Given the description of an element on the screen output the (x, y) to click on. 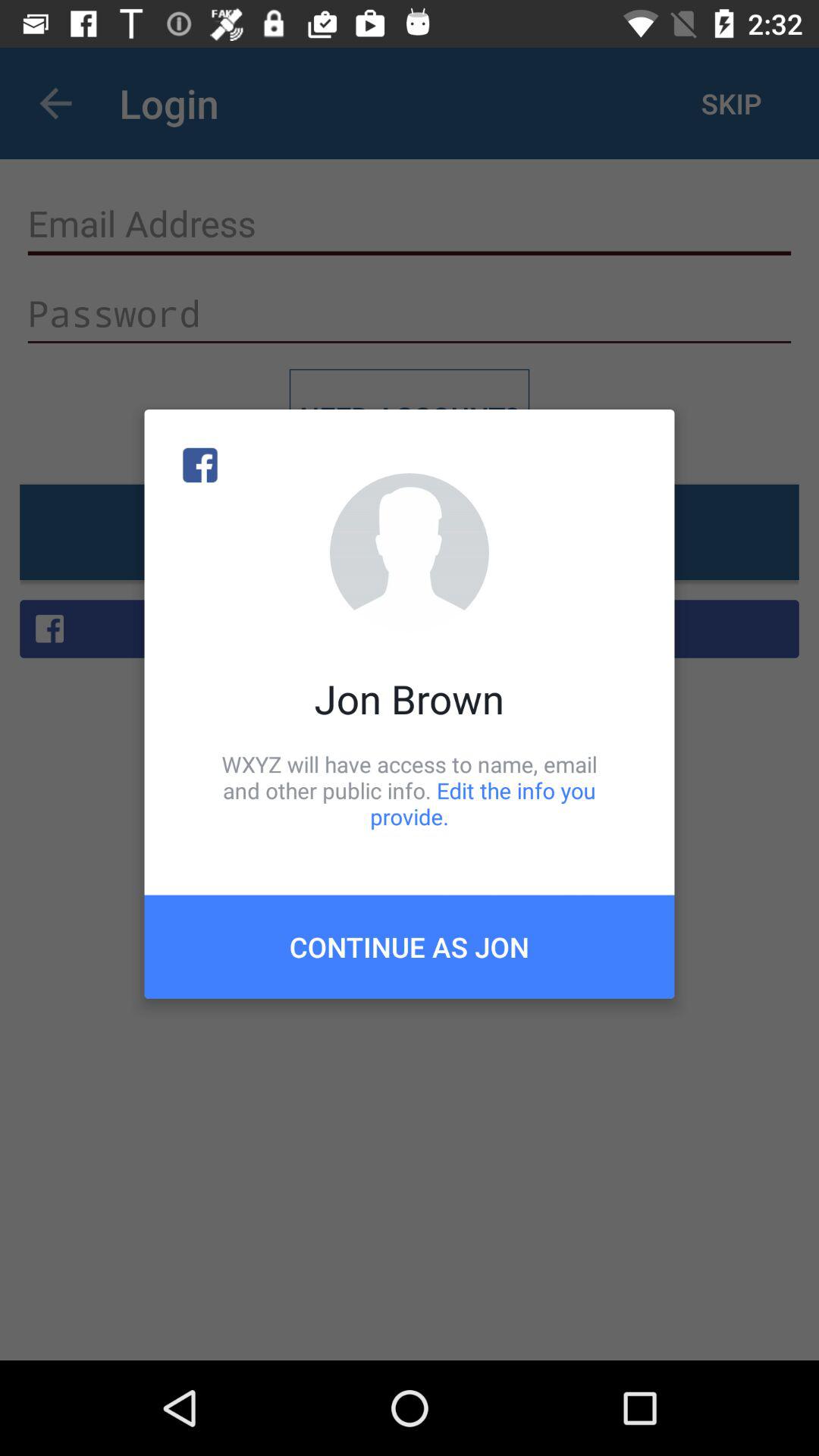
turn on wxyz will have (409, 790)
